Given the description of an element on the screen output the (x, y) to click on. 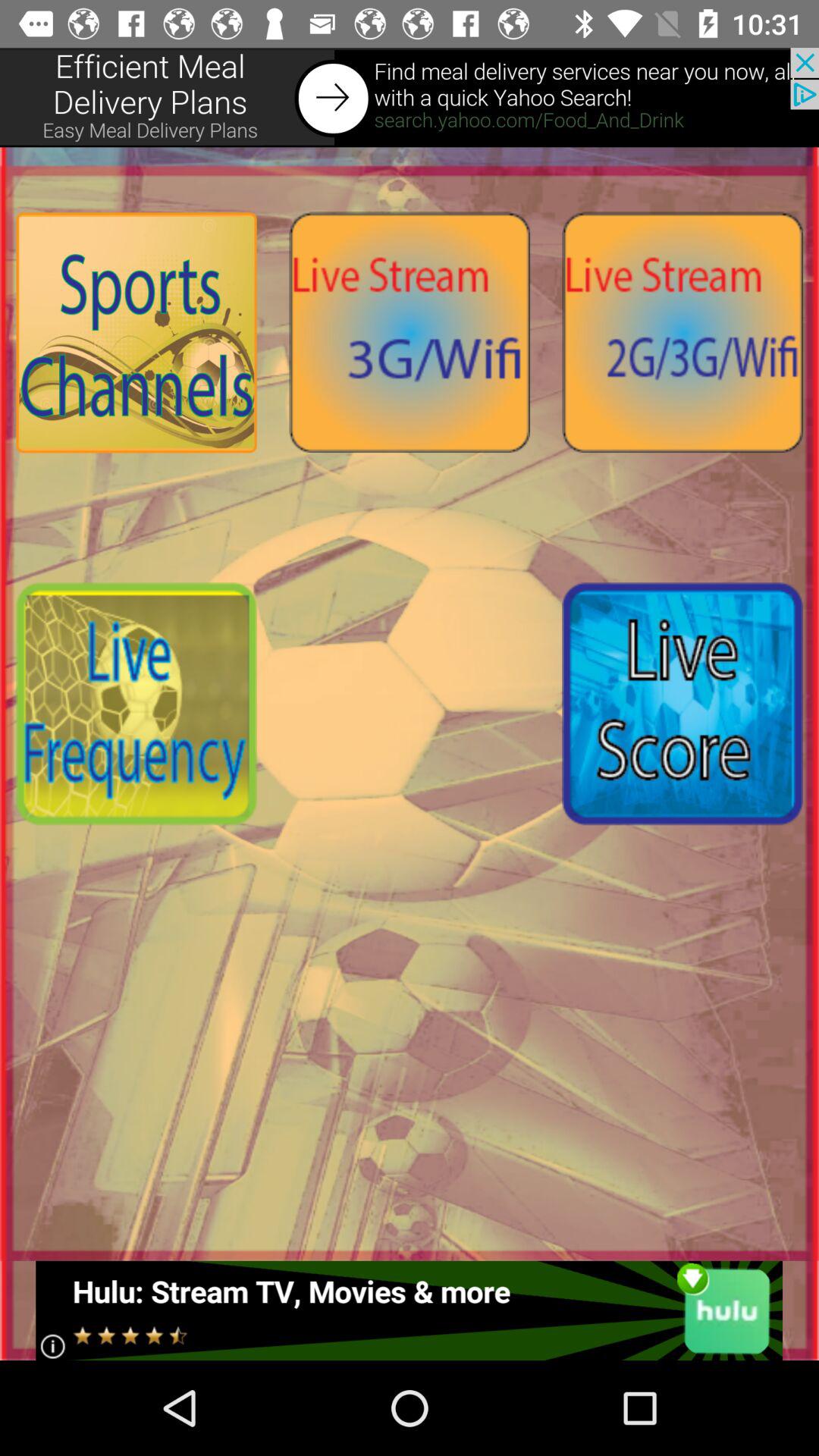
go to hulu website (408, 1310)
